Given the description of an element on the screen output the (x, y) to click on. 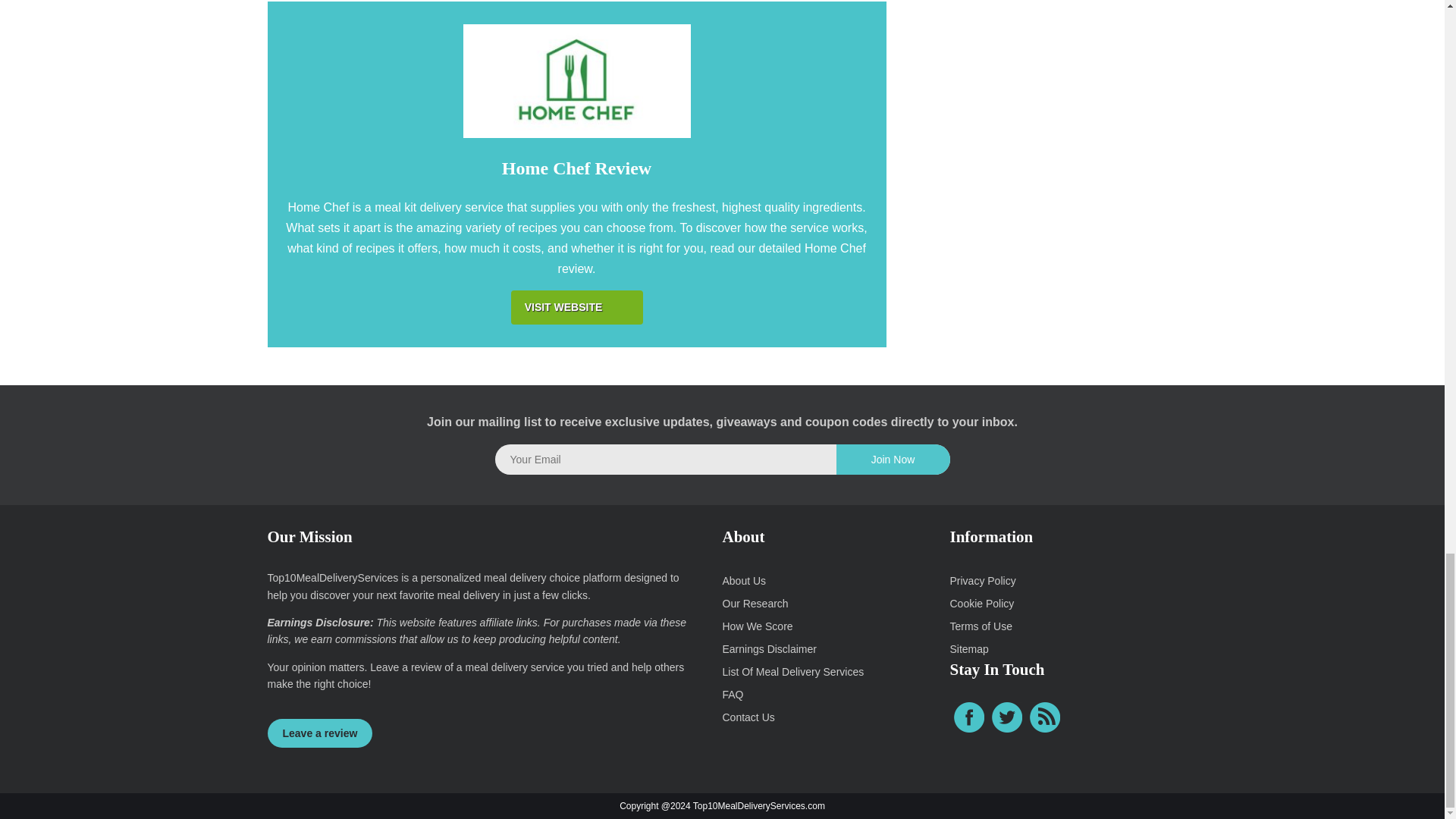
Top 10 Meal Delivery Services on Facebook (968, 716)
Top 10 Meal Delivery Services on Twitter (1006, 716)
Join Now (892, 459)
RSS Feed (1044, 716)
